Given the description of an element on the screen output the (x, y) to click on. 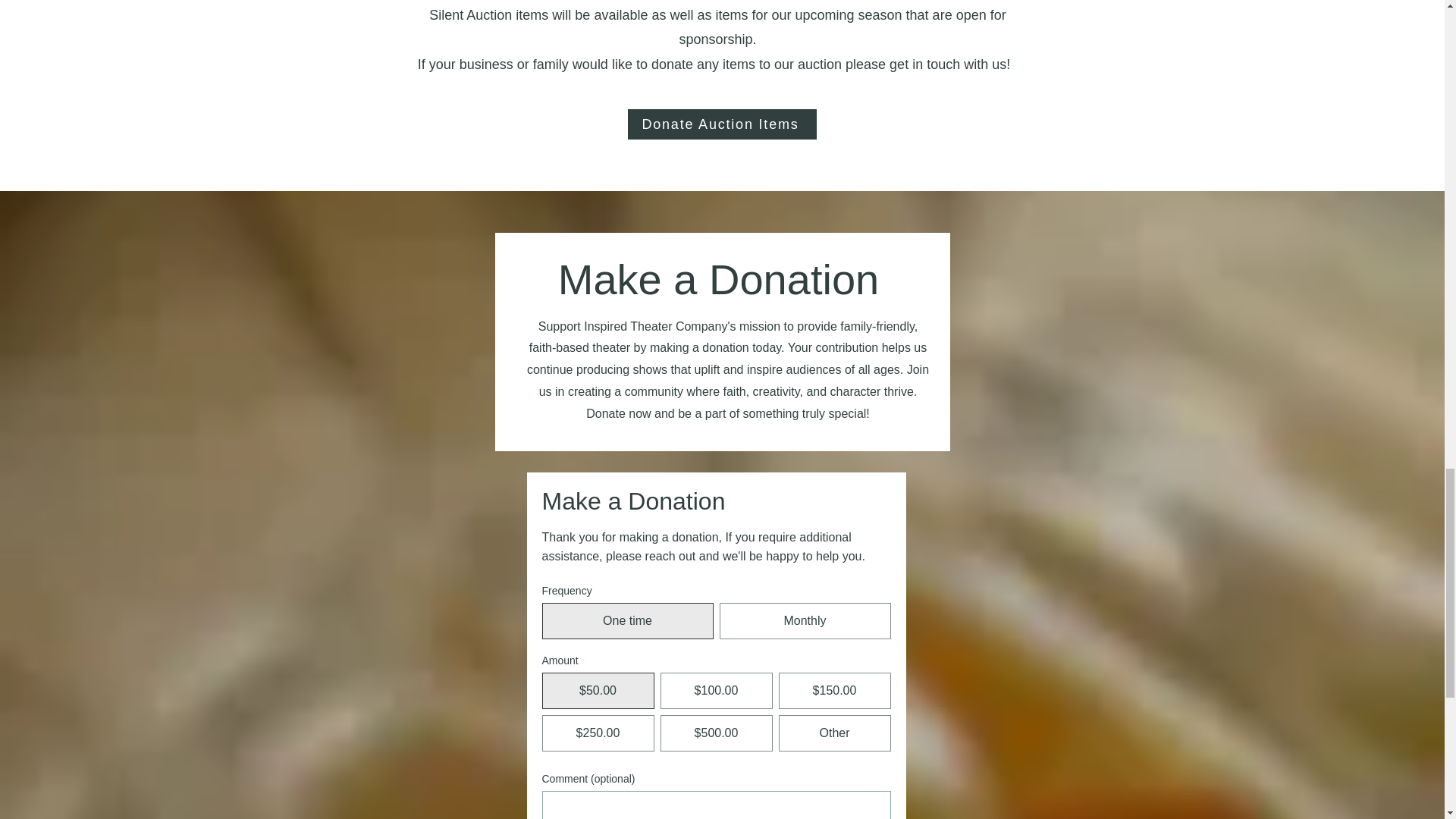
Donate Auction Items (721, 123)
